Given the description of an element on the screen output the (x, y) to click on. 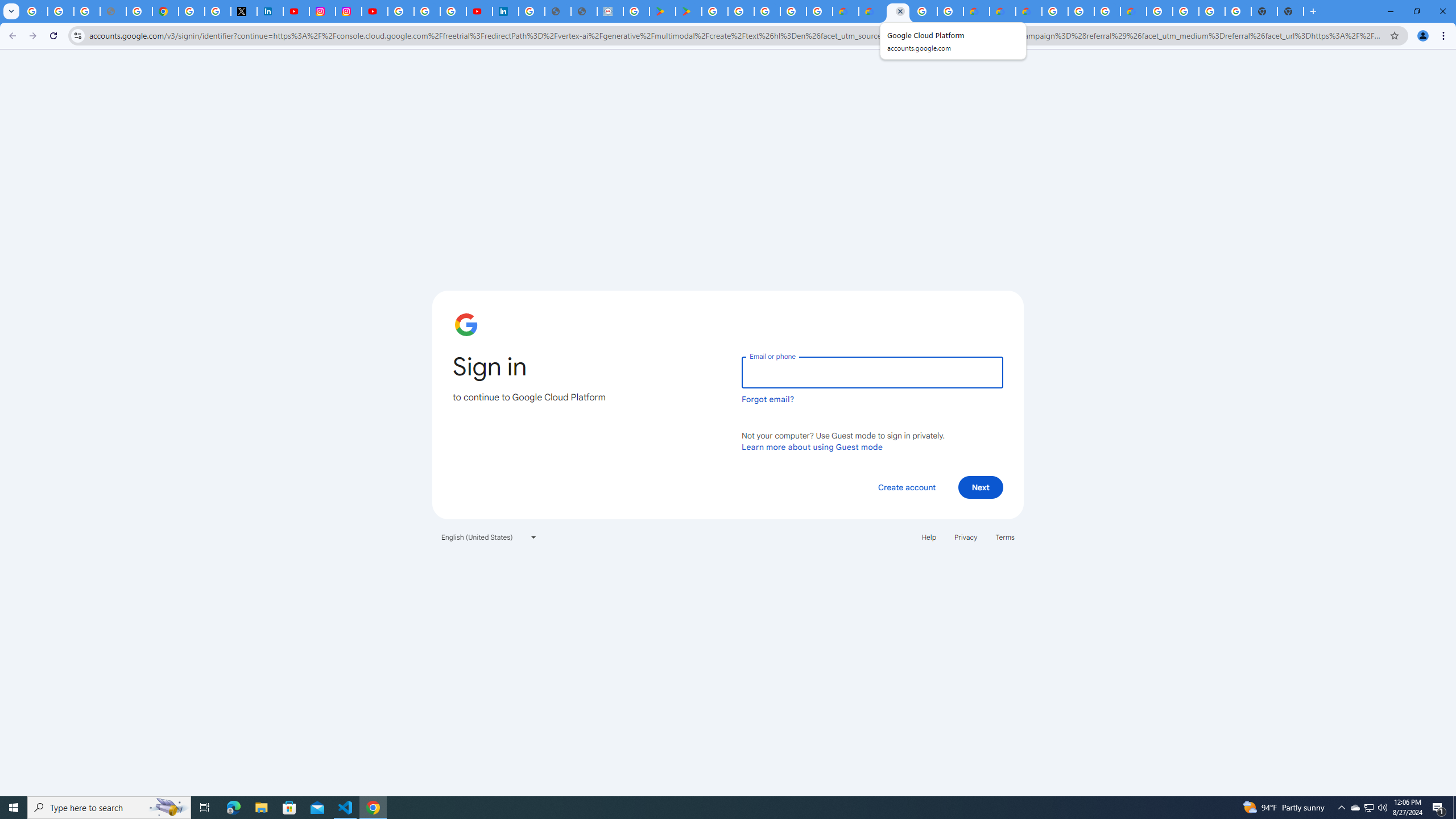
Google Cloud Pricing Calculator (1002, 11)
Android Apps on Google Play (663, 11)
Google Cloud Platform (1054, 11)
YouTube Content Monetization Policies - How YouTube Works (296, 11)
Google Workspace - Specific Terms (792, 11)
Google Cloud Platform (923, 11)
Email or phone (871, 372)
